Given the description of an element on the screen output the (x, y) to click on. 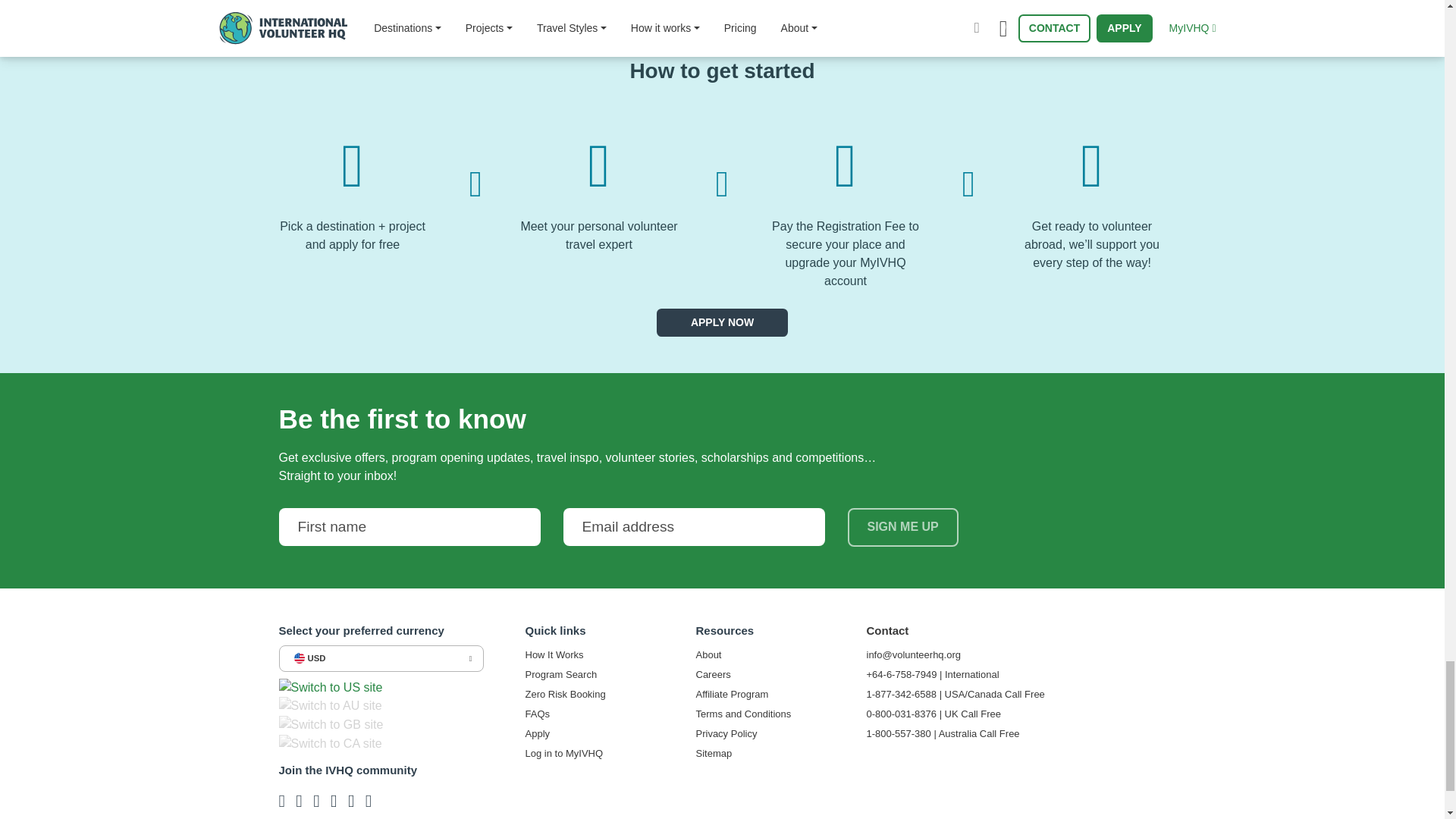
Email (693, 526)
First name (409, 526)
